Given the description of an element on the screen output the (x, y) to click on. 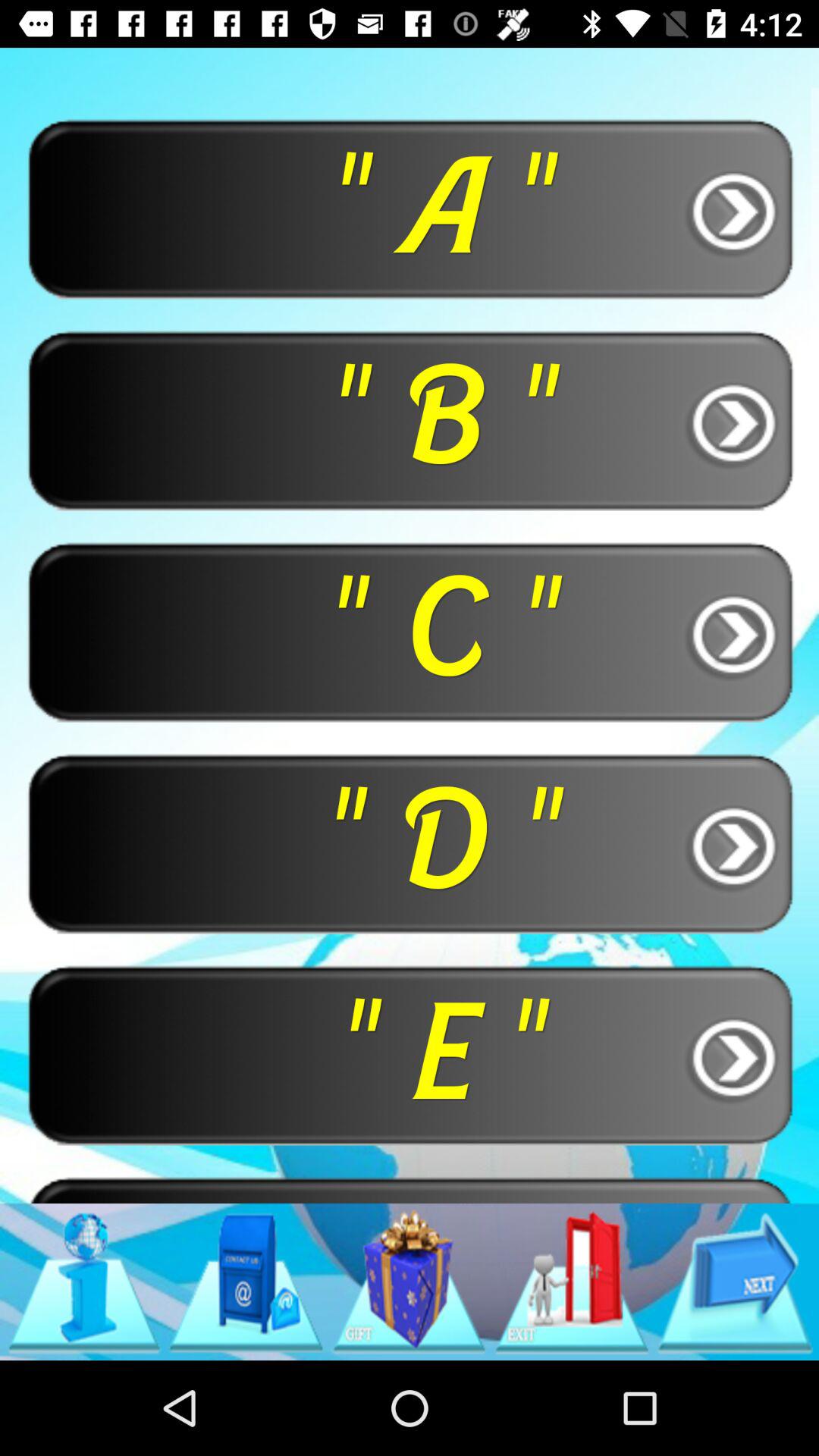
exit screen (571, 1281)
